Given the description of an element on the screen output the (x, y) to click on. 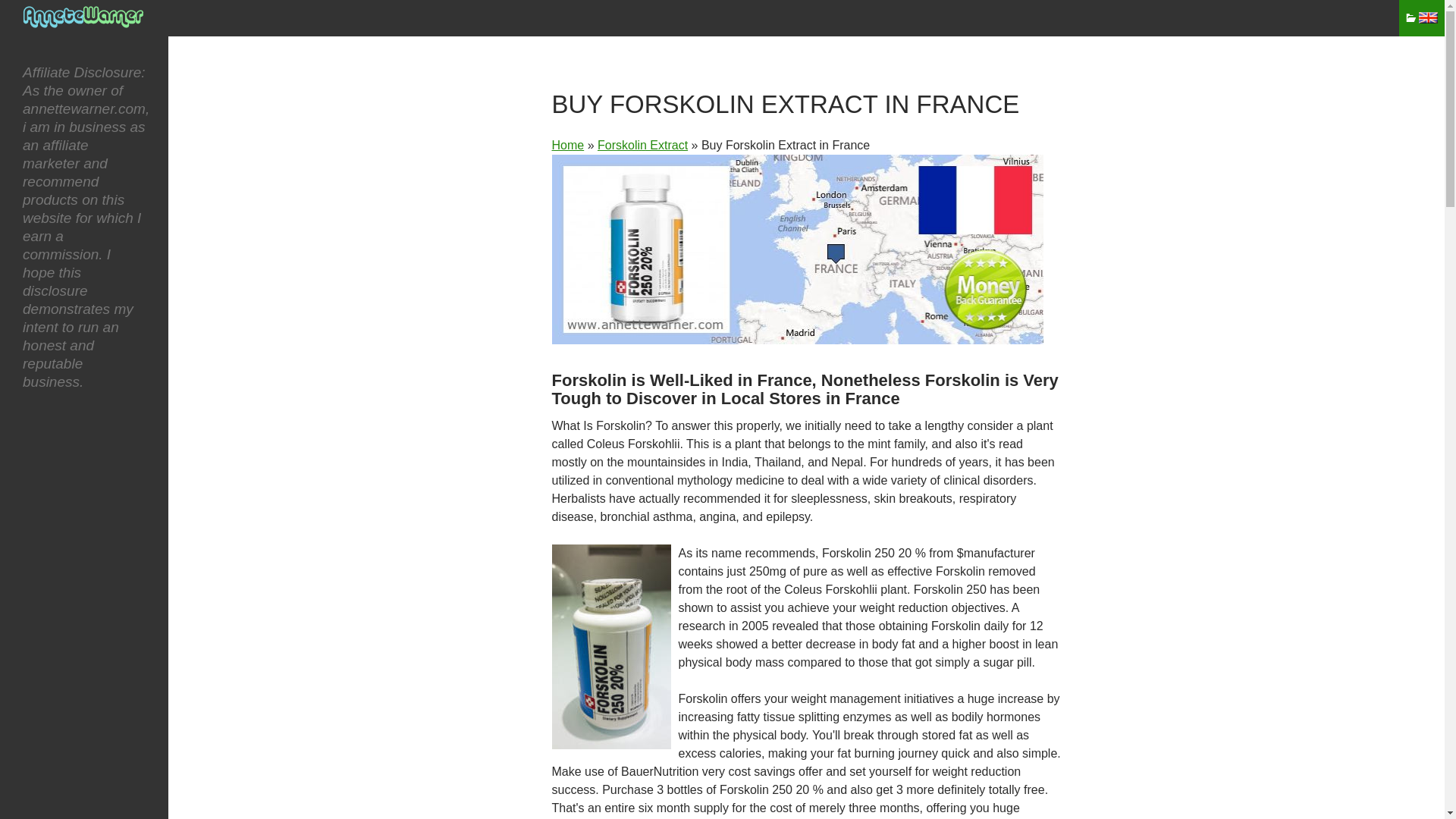
Purchase Forskolin Extract online France (797, 248)
Buy Forskolin Extract Online  (641, 144)
Home (568, 144)
Forskolin Extract (641, 144)
